Given the description of an element on the screen output the (x, y) to click on. 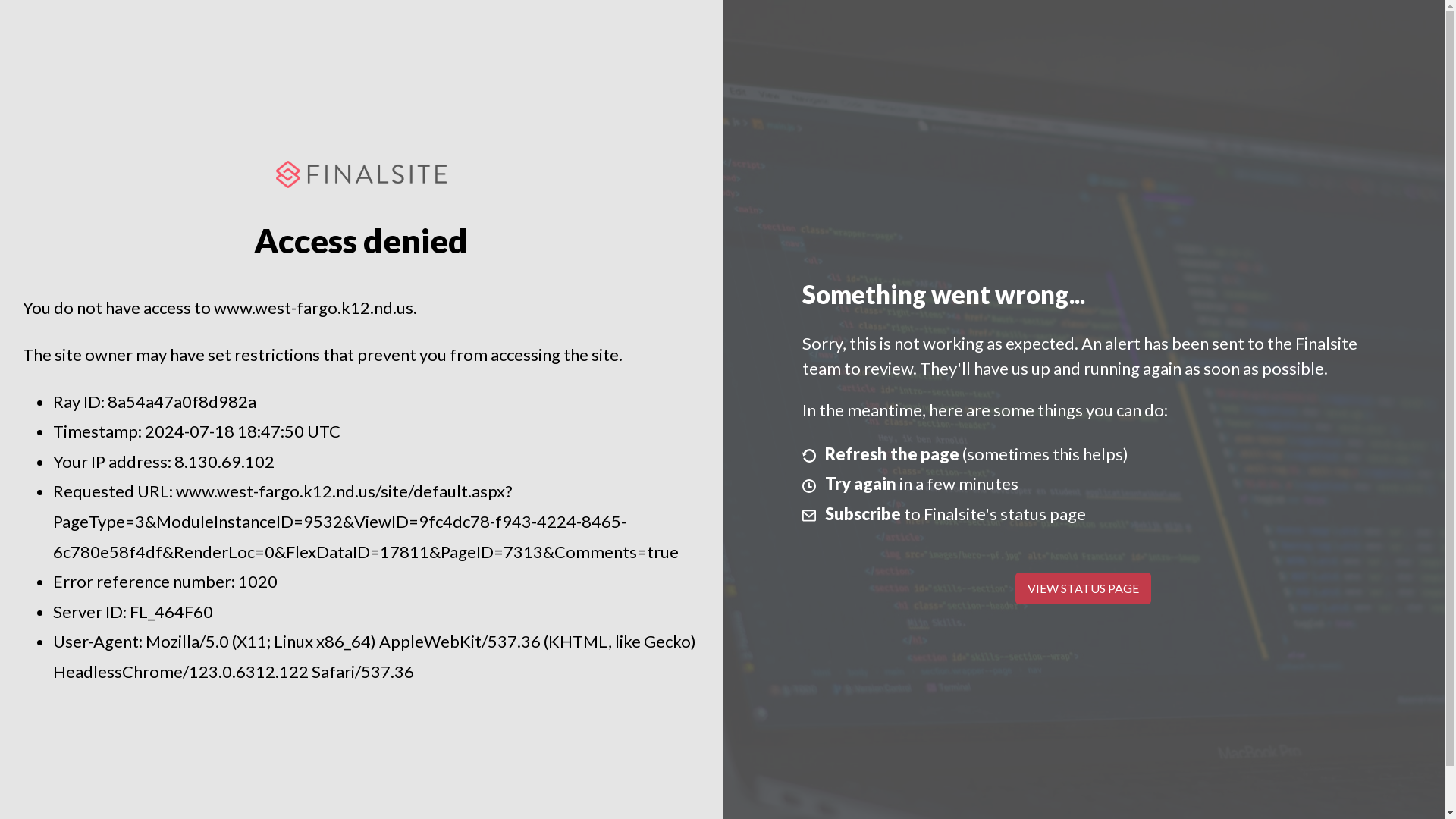
VIEW STATUS PAGE (1082, 588)
